Given the description of an element on the screen output the (x, y) to click on. 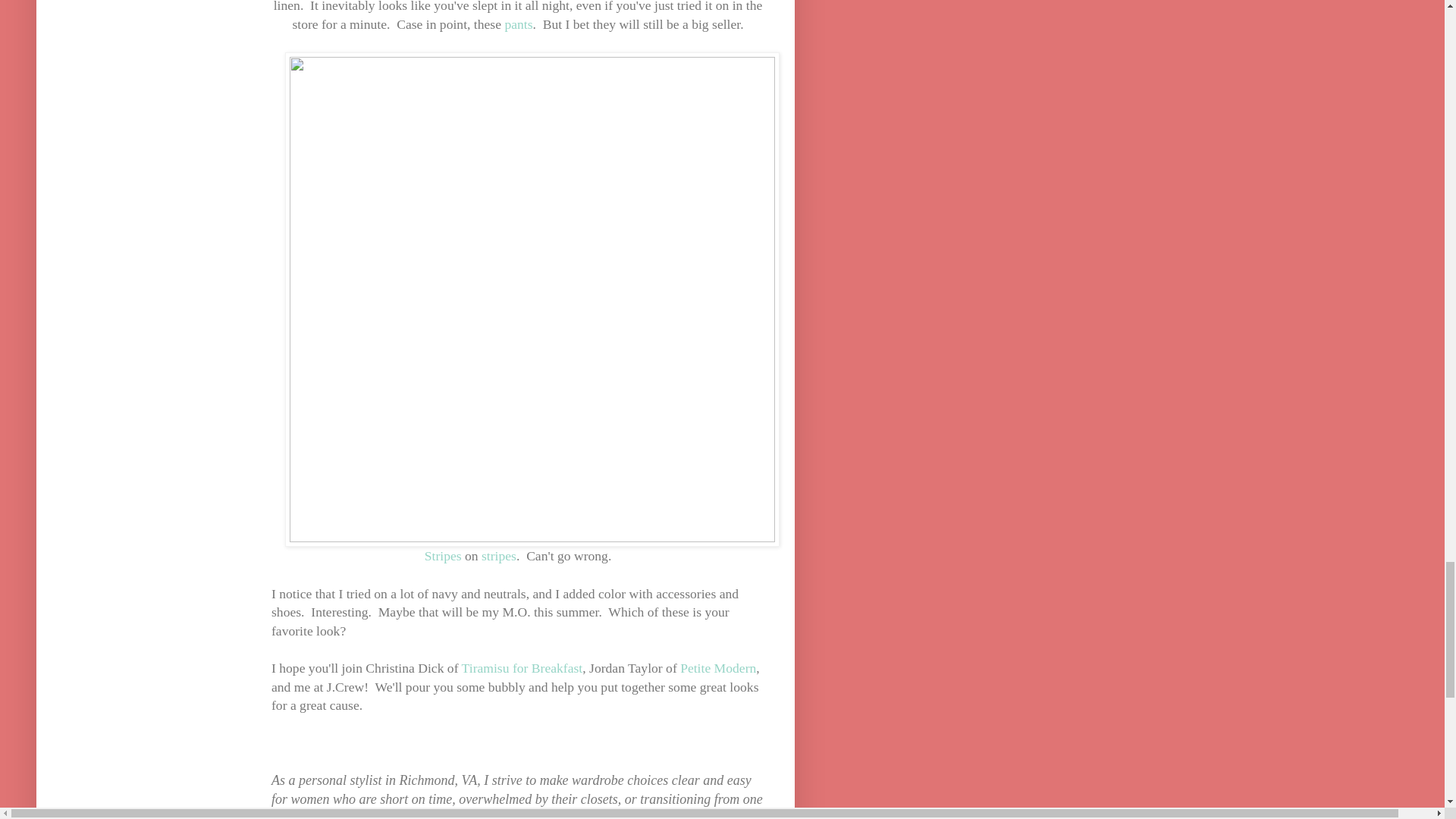
Tiramisu for Breakfast (522, 667)
Stripes (444, 555)
Petite Modern (717, 667)
Let's connect! (448, 814)
stripes (498, 555)
pants (517, 23)
